Given the description of an element on the screen output the (x, y) to click on. 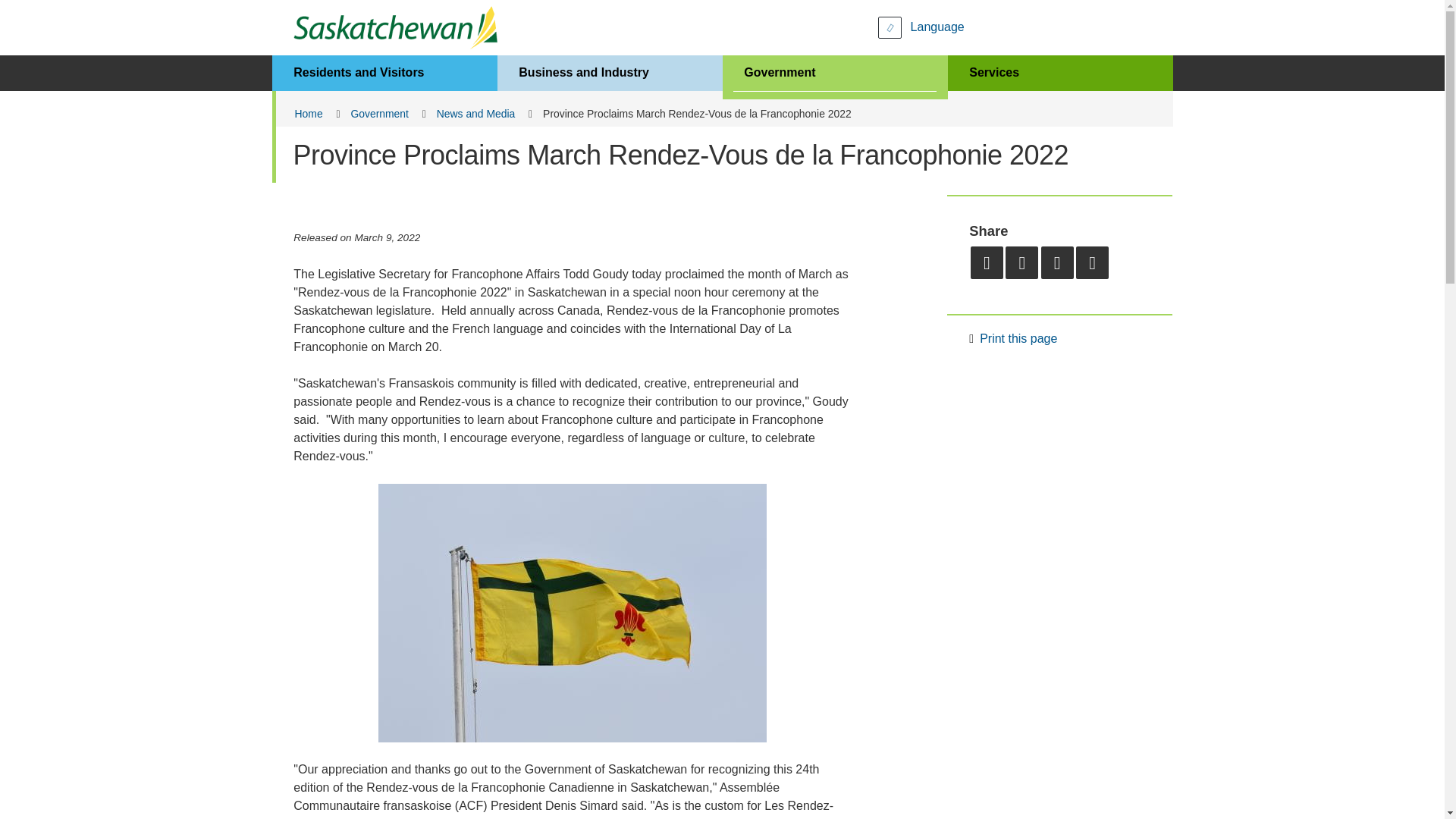
Government (834, 72)
Business and Industry (609, 72)
X, formerly Twitter (1057, 262)
Facebook (1022, 262)
Linkedin (1091, 262)
Language (921, 27)
Email (987, 262)
Services (1060, 72)
Residents and Visitors (383, 72)
Language (921, 27)
